Given the description of an element on the screen output the (x, y) to click on. 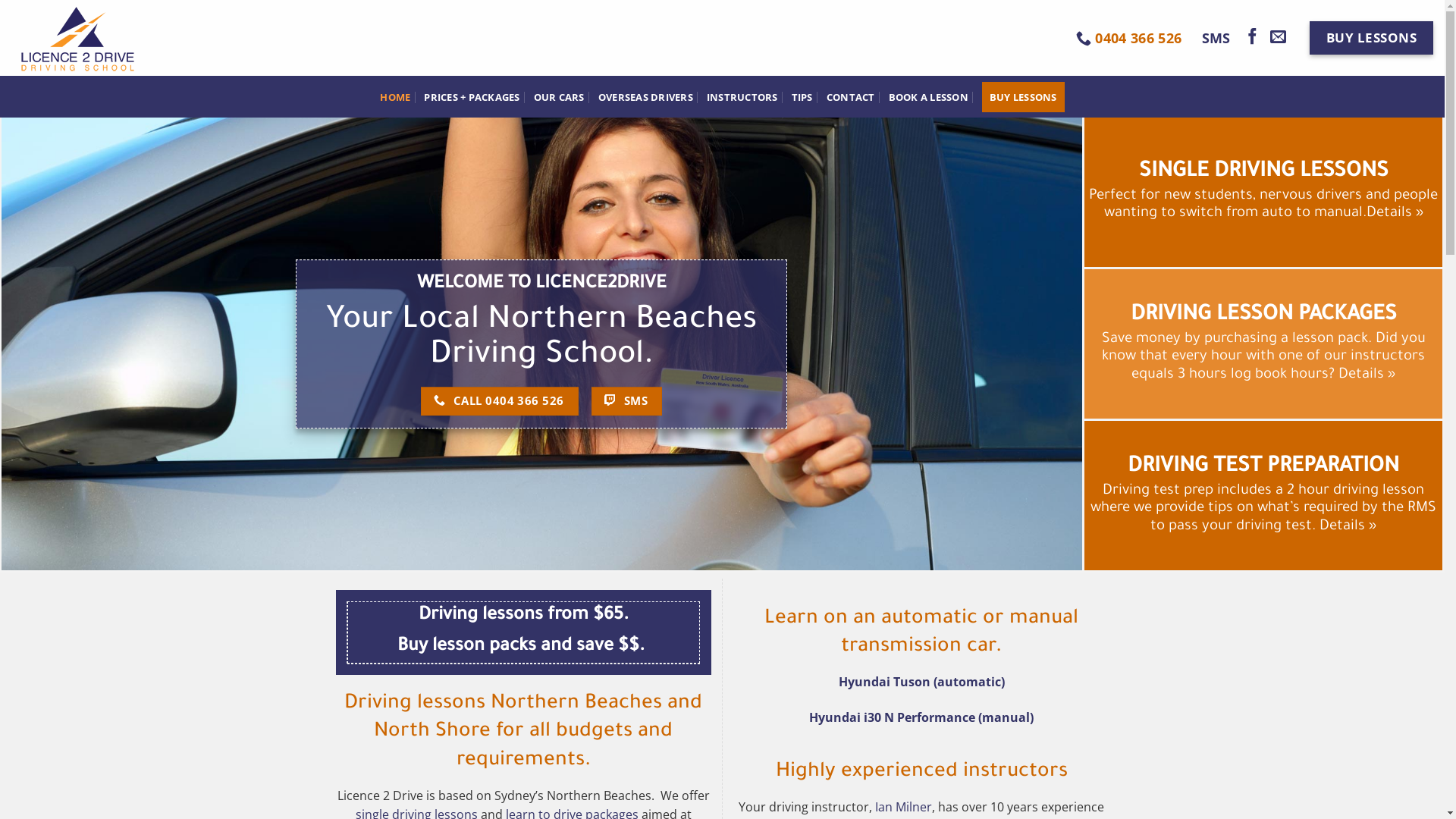
BOOK A LESSON Element type: text (928, 96)
OUR CARS Element type: text (558, 96)
Hyundai Tuson (automatic) Element type: text (921, 681)
Hyundai i30 N Performance (manual) Element type: text (921, 717)
0404 366 526 Element type: text (1128, 37)
Send us an email Element type: hover (1278, 37)
DRIVING TEST PREPARATION Element type: text (1263, 467)
SINGLE DRIVING LESSONS Element type: text (1263, 173)
PRICES + PACKAGES Element type: text (471, 96)
Ian Milner Element type: text (903, 806)
OVERSEAS DRIVERS Element type: text (645, 96)
SMS Element type: text (626, 400)
CALL 0404 366 526 Element type: text (498, 400)
DRIVING LESSON PACKAGES Element type: text (1263, 316)
INSTRUCTORS Element type: text (742, 96)
BUY LESSONS Element type: text (1023, 96)
BUY LESSONS Element type: text (1371, 37)
Follow on Facebook Element type: hover (1252, 37)
TIPS Element type: text (801, 96)
HOME Element type: text (394, 96)
CONTACT Element type: text (850, 96)
